Given the description of an element on the screen output the (x, y) to click on. 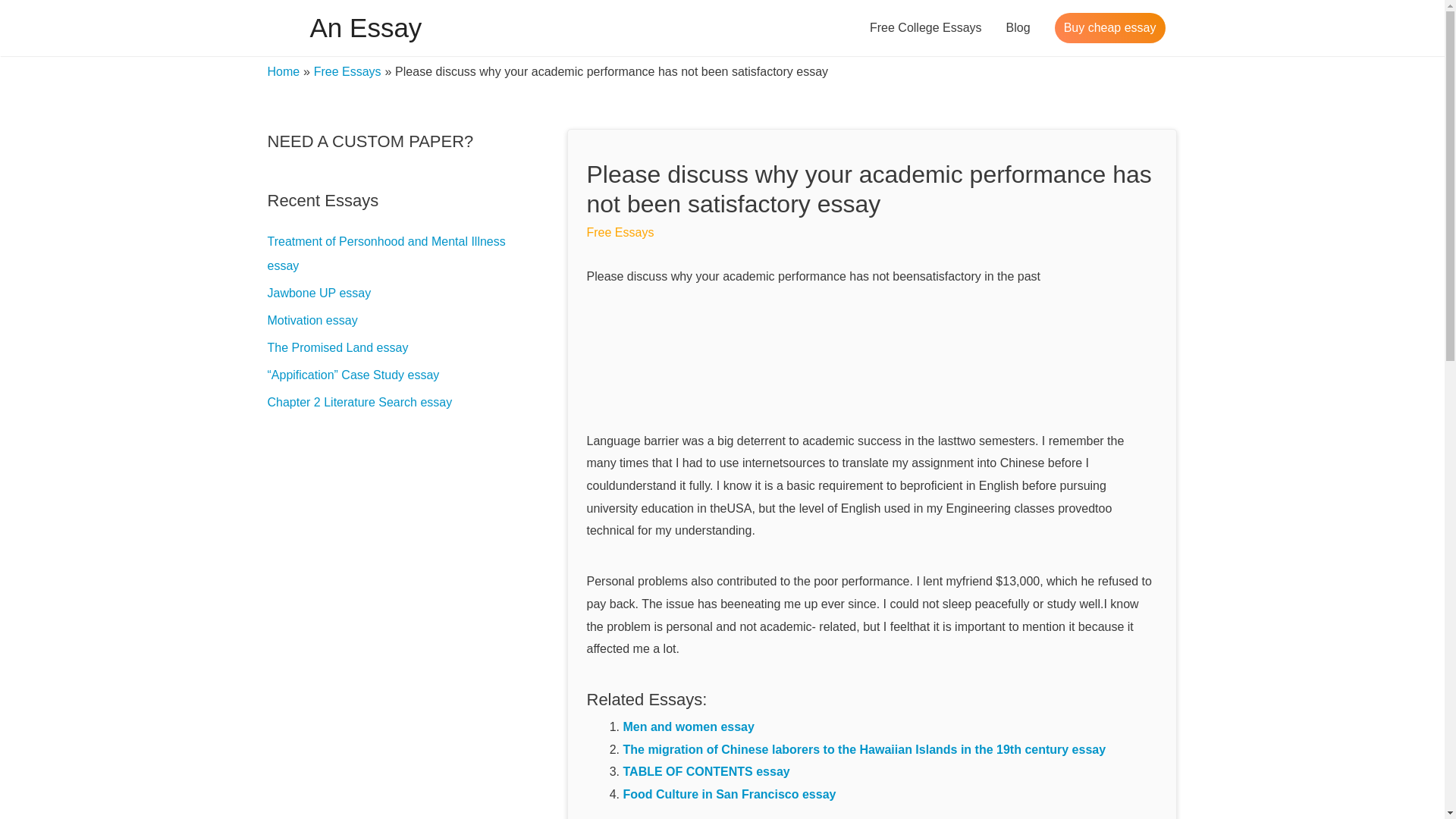
Men and women essay (688, 726)
Men and women essay (688, 726)
TABLE OF CONTENTS essay (706, 771)
Food Culture in San Francisco essay (729, 793)
Treatment of Personhood and Mental Illness essay (385, 253)
The Promised Land essay (336, 347)
Free Essays (619, 232)
Motivation essay (311, 319)
An Essay (365, 27)
TABLE OF CONTENTS essay (706, 771)
Jawbone UP essay (318, 292)
Buy cheap essay (1109, 28)
Chapter 2 Literature Search essay (358, 401)
Home (282, 71)
Free College Essays (925, 28)
